Given the description of an element on the screen output the (x, y) to click on. 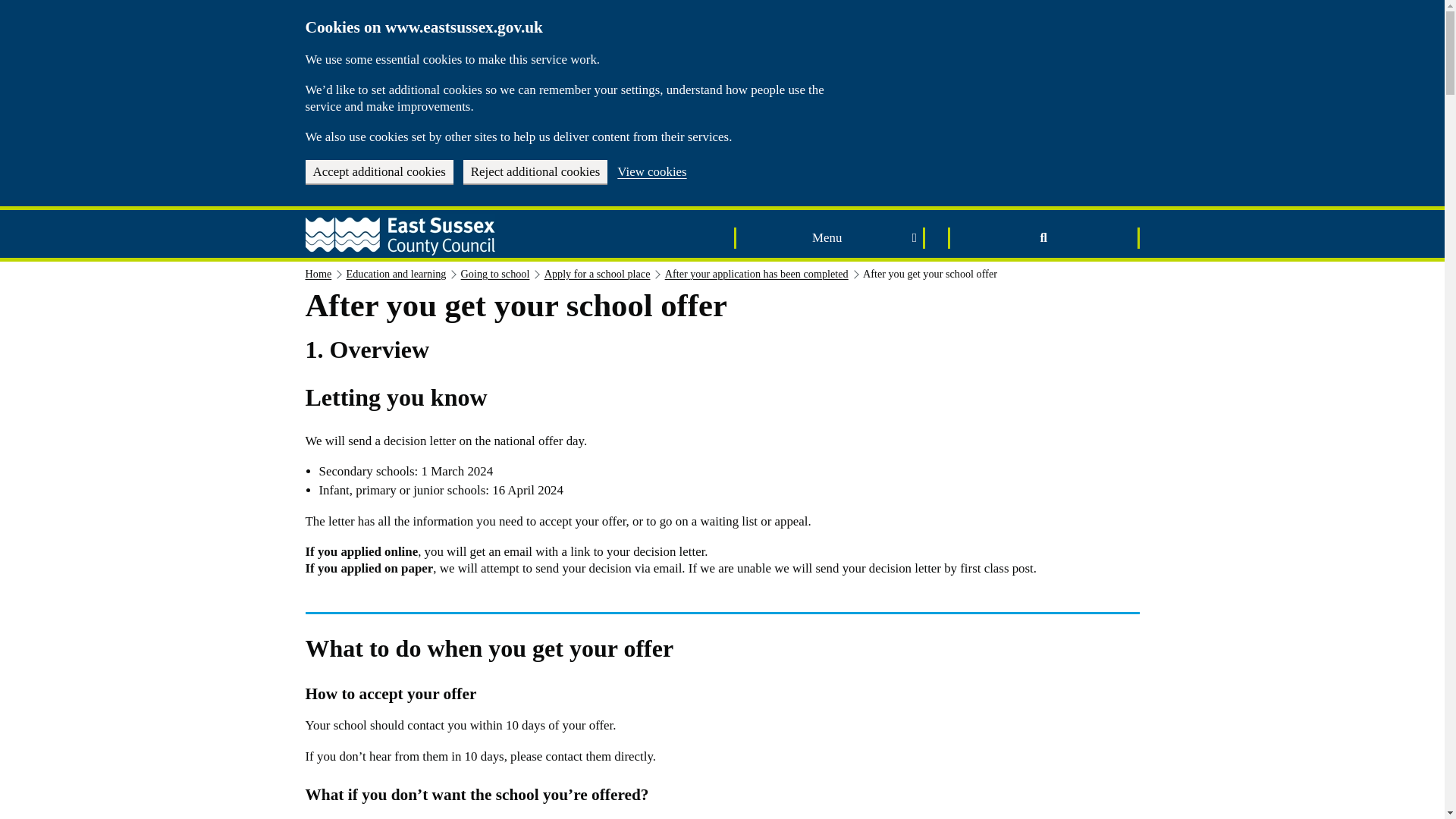
Education and learning (395, 273)
Menu (829, 237)
Reject additional cookies (535, 171)
Going to school (495, 273)
Skip to main content (10, 6)
View cookies (651, 172)
After your application has been completed (756, 273)
Home (317, 273)
Accept additional cookies (378, 171)
Apply for a school place (597, 273)
